Given the description of an element on the screen output the (x, y) to click on. 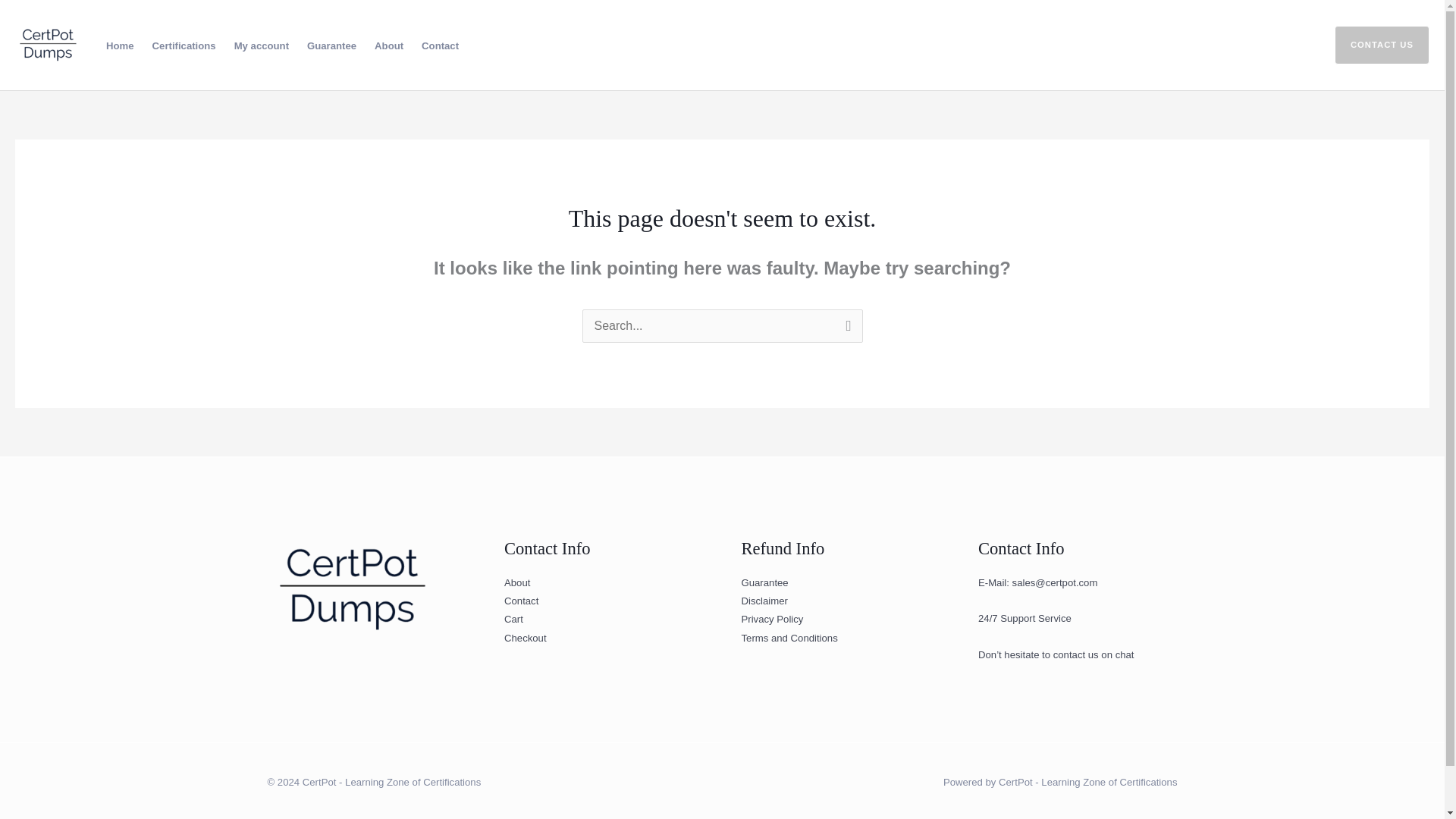
Guarantee (765, 582)
Search (844, 327)
Home (119, 45)
Cart (512, 618)
Search (844, 327)
Contact (439, 45)
Disclaimer (764, 600)
CONTACT US (1372, 44)
Privacy Policy (772, 618)
Checkout (525, 637)
Contact (520, 600)
Guarantee (331, 45)
About (388, 45)
Terms and Conditions (789, 637)
